Given the description of an element on the screen output the (x, y) to click on. 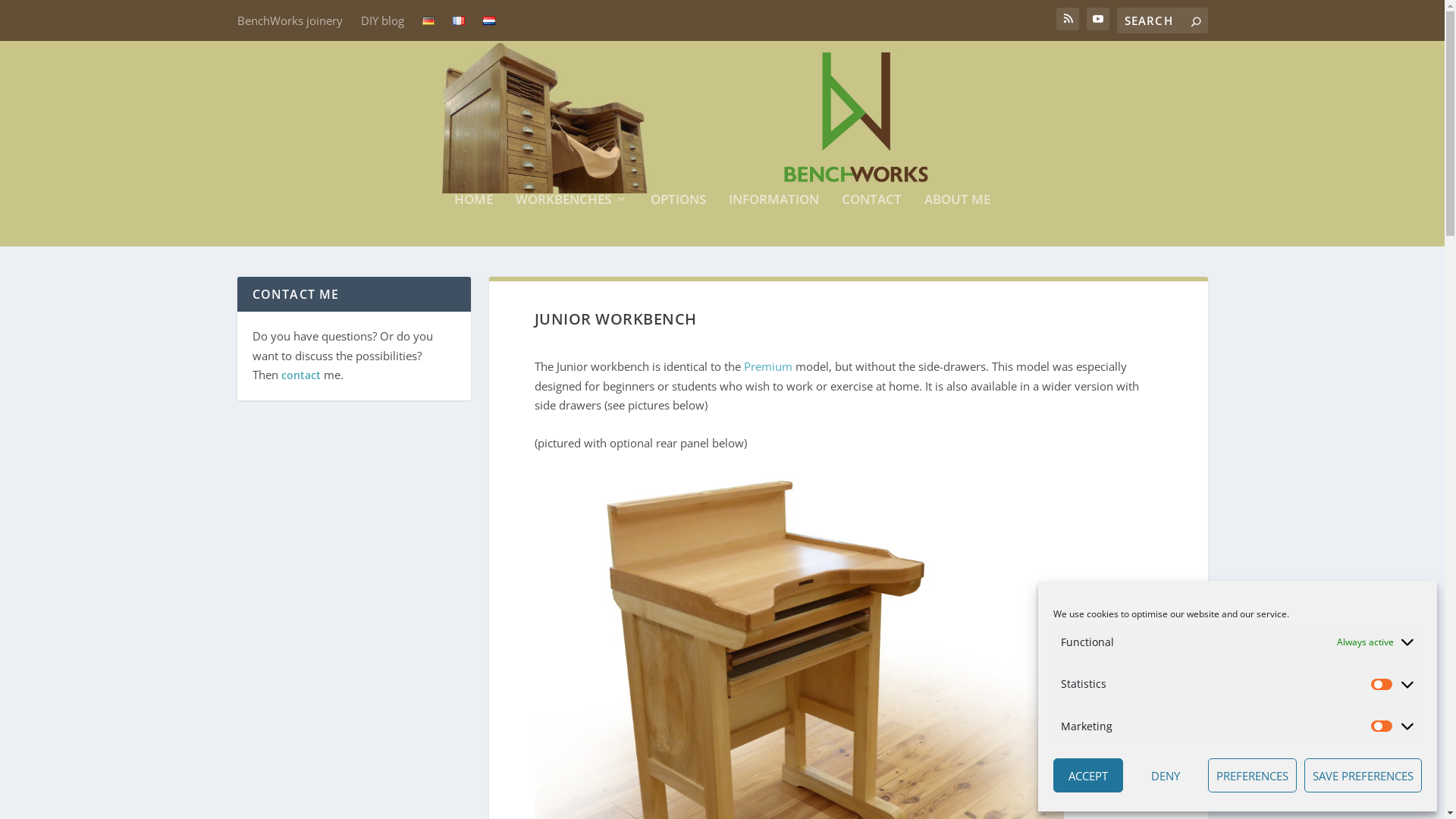
DENY Element type: text (1165, 775)
contact Element type: text (300, 374)
CONTACT Element type: text (871, 219)
Premium Element type: text (768, 365)
Search for: Element type: hover (1161, 20)
ACCEPT Element type: text (1088, 775)
OPTIONS Element type: text (678, 219)
ABOUT ME Element type: text (957, 219)
DIY blog Element type: text (382, 20)
WORKBENCHES Element type: text (571, 219)
SAVE PREFERENCES Element type: text (1362, 775)
PREFERENCES Element type: text (1252, 775)
HOME Element type: text (473, 219)
BenchWorks joinery Element type: text (289, 20)
INFORMATION Element type: text (773, 219)
